Given the description of an element on the screen output the (x, y) to click on. 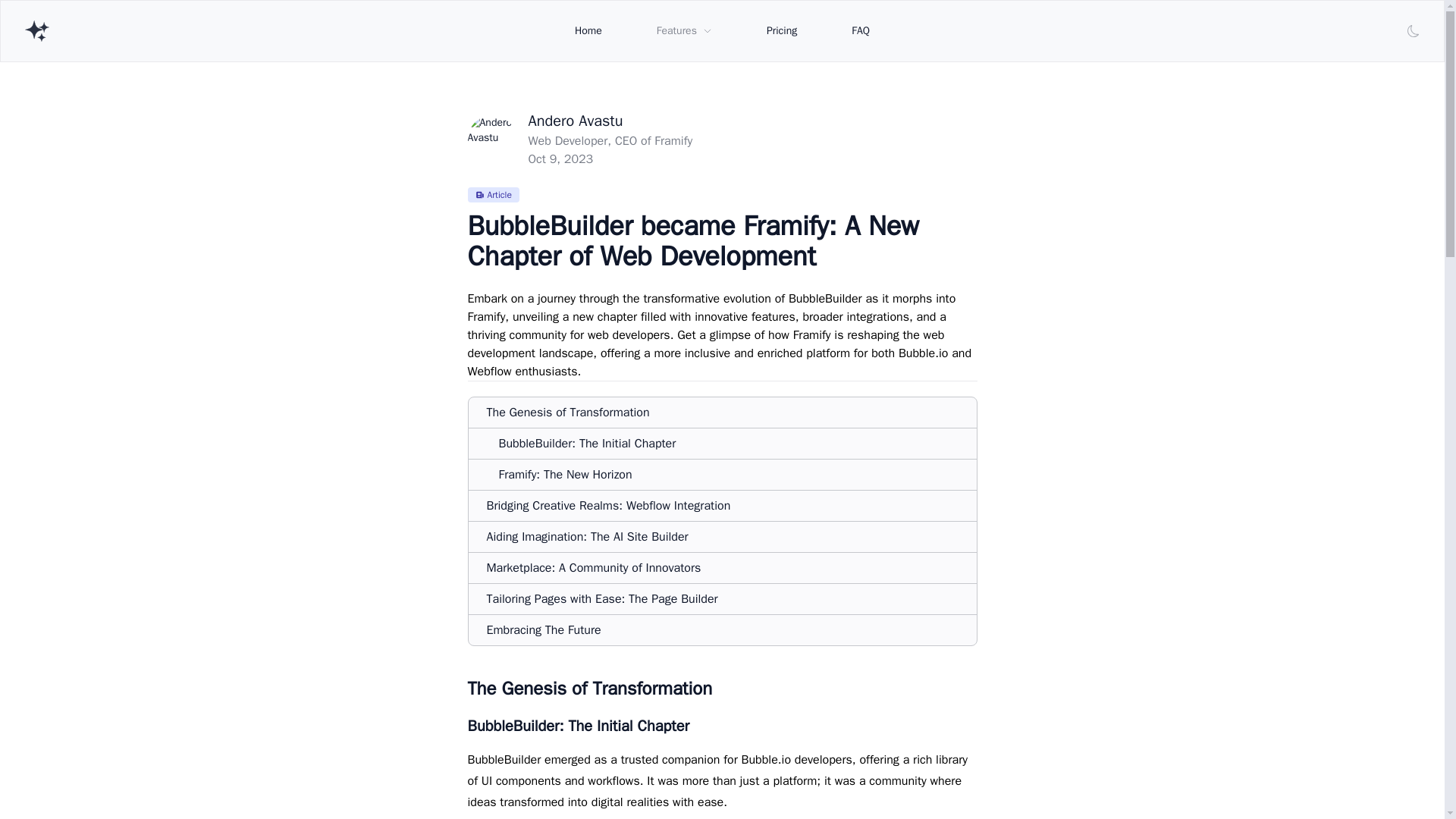
Home (588, 30)
Aiding Imagination: The AI Site Builder (587, 536)
BubbleBuilder: The Initial Chapter (588, 443)
Andero Avastu (575, 120)
Pricing (781, 30)
Oct 9, 2023 (559, 159)
Tailoring Pages with Ease: The Page Builder (601, 598)
FAQ (861, 30)
The Genesis of Transformation (567, 412)
Bridging Creative Realms: Webflow Integration (608, 505)
